Given the description of an element on the screen output the (x, y) to click on. 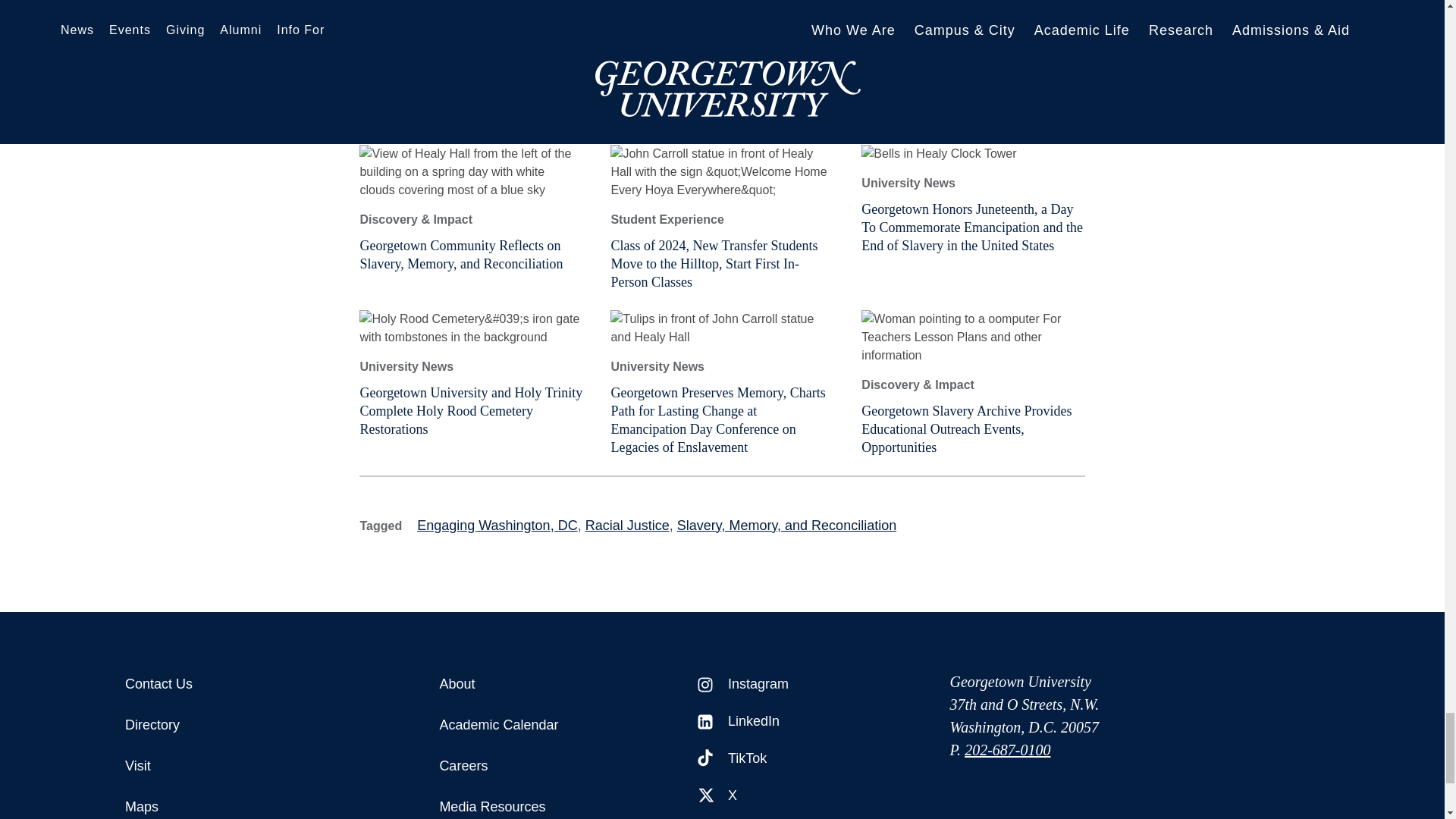
LinkedIn (705, 721)
TikTok (705, 758)
X (705, 796)
Instagram (705, 684)
